Given the description of an element on the screen output the (x, y) to click on. 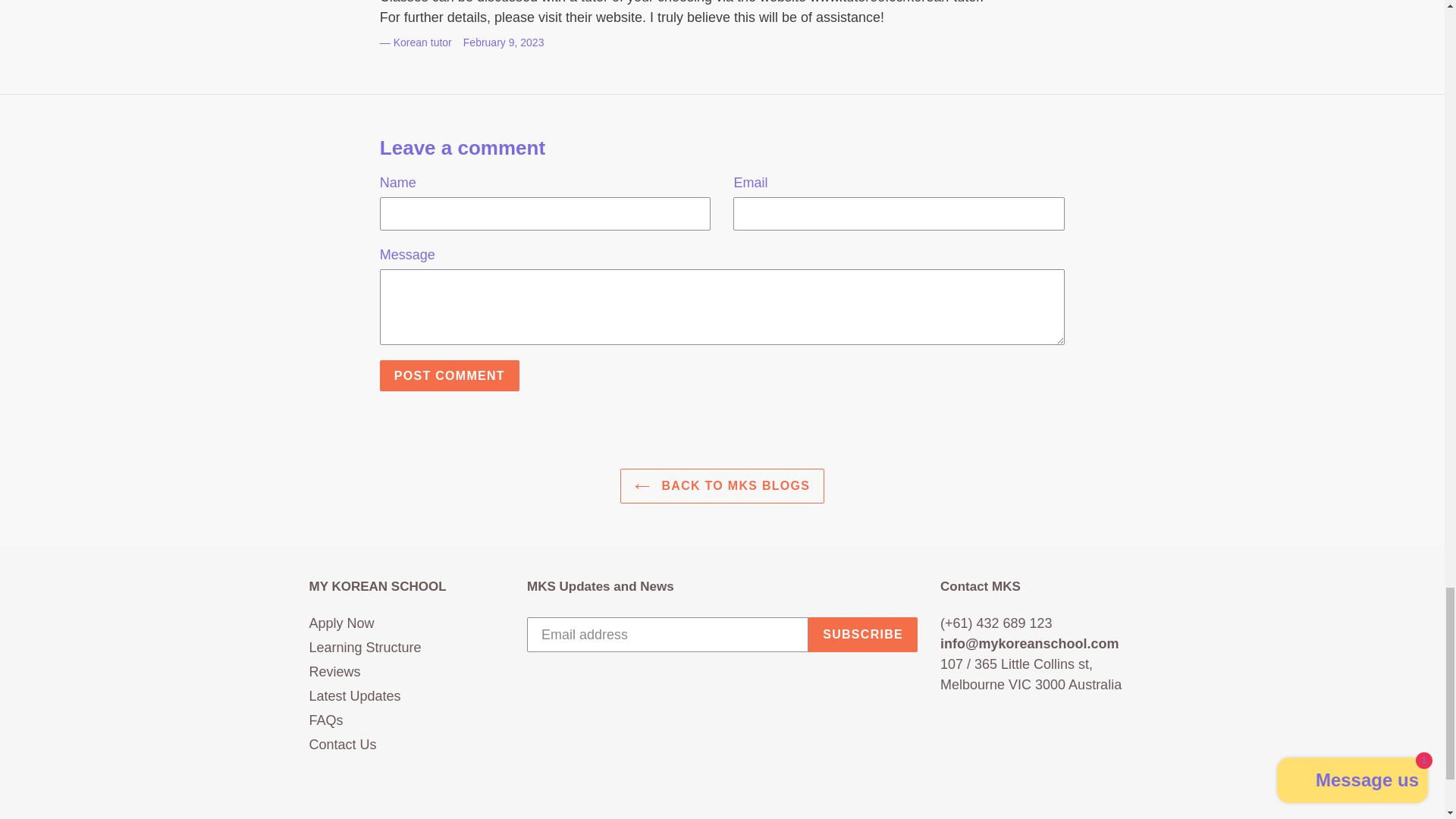
Post comment (449, 375)
